Given the description of an element on the screen output the (x, y) to click on. 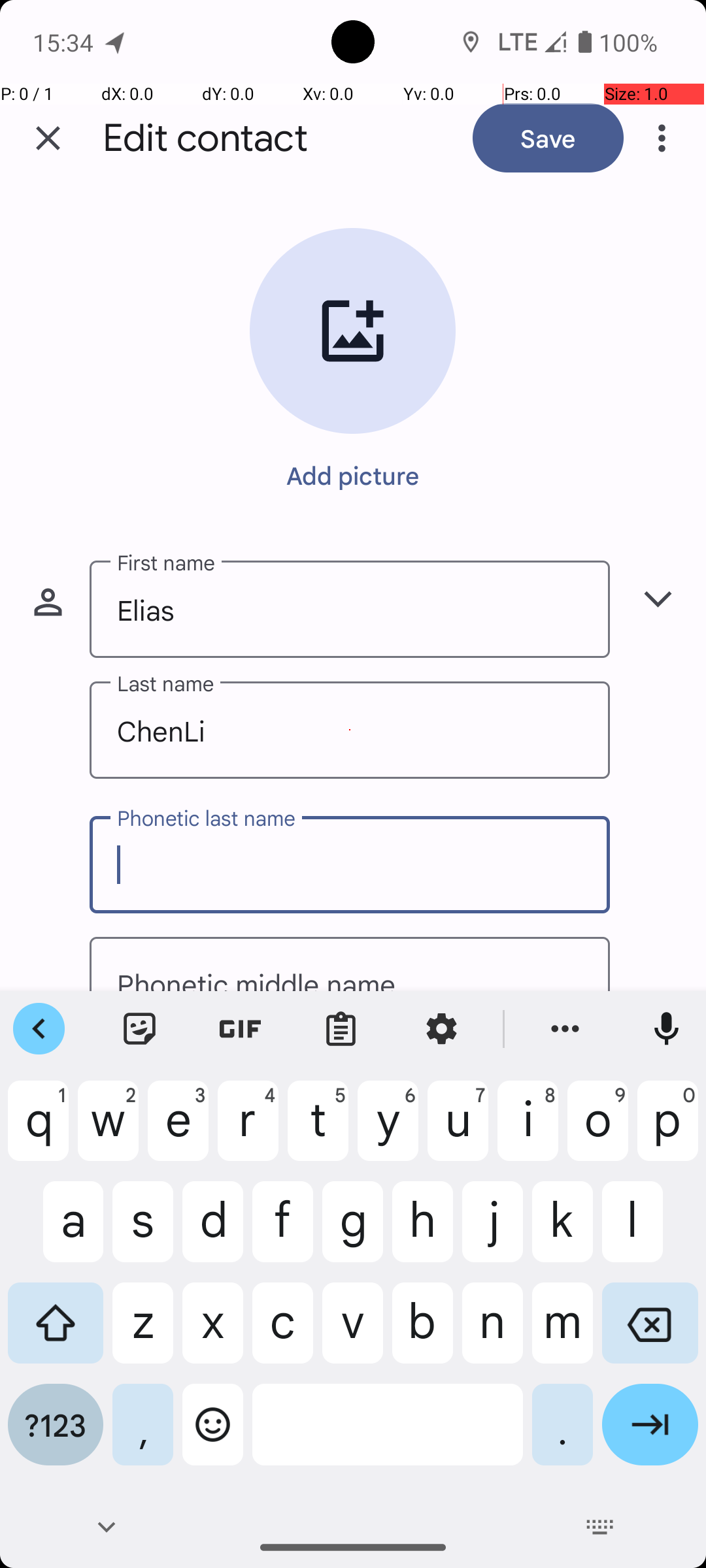
Add picture Element type: android.widget.Button (352, 474)
Elias Element type: android.widget.EditText (349, 608)
ChenLi Element type: android.widget.EditText (349, 729)
Phonetic last name Element type: android.widget.EditText (349, 864)
Phonetic middle name Element type: android.widget.EditText (349, 963)
